Given the description of an element on the screen output the (x, y) to click on. 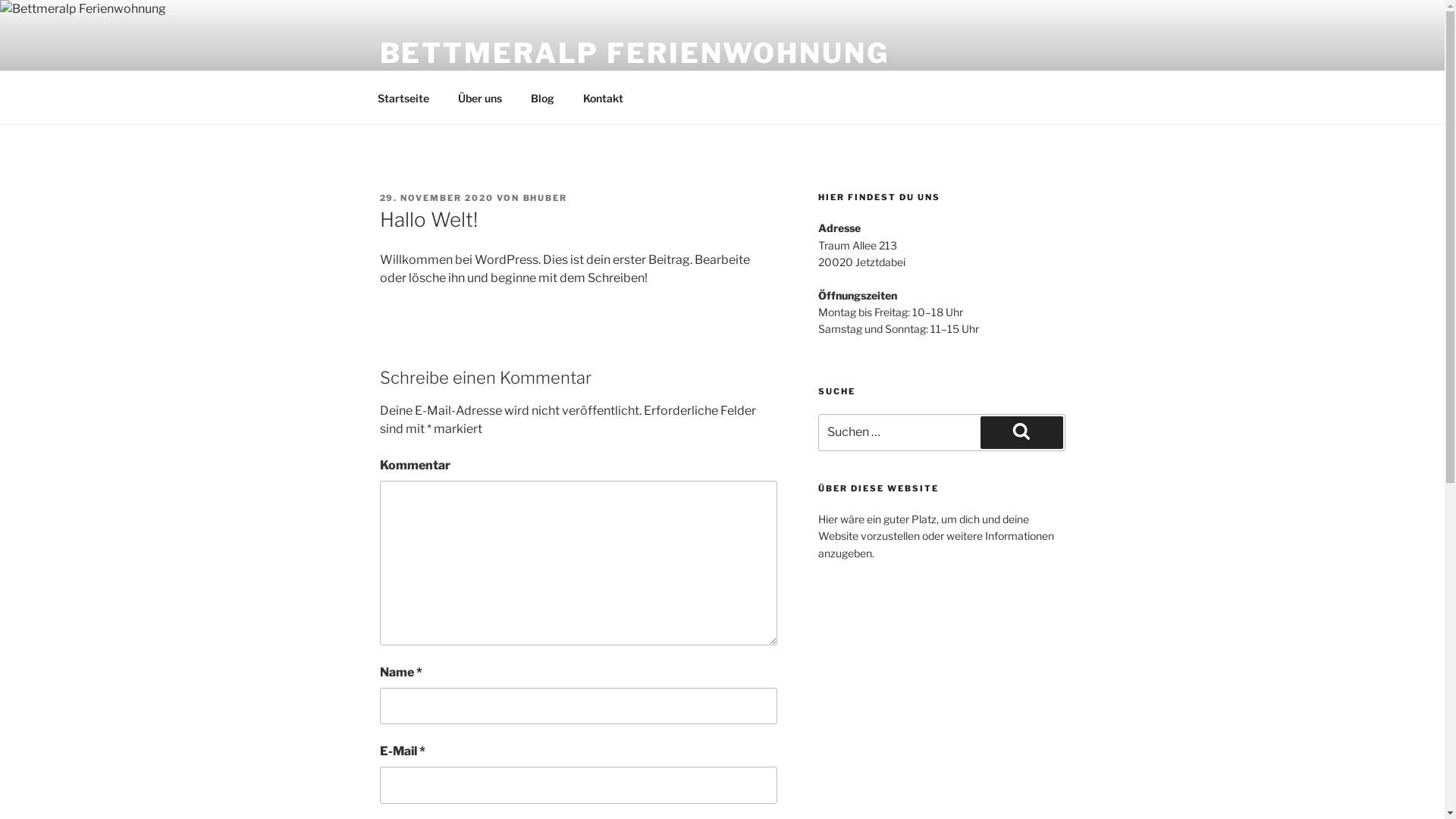
Suchen Element type: text (1020, 432)
Startseite Element type: text (403, 97)
BHUBER Element type: text (545, 197)
29. NOVEMBER 2020 Element type: text (436, 197)
BETTMERALP FERIENWOHNUNG Element type: text (633, 52)
Kontakt Element type: text (603, 97)
Blog Element type: text (542, 97)
